Given the description of an element on the screen output the (x, y) to click on. 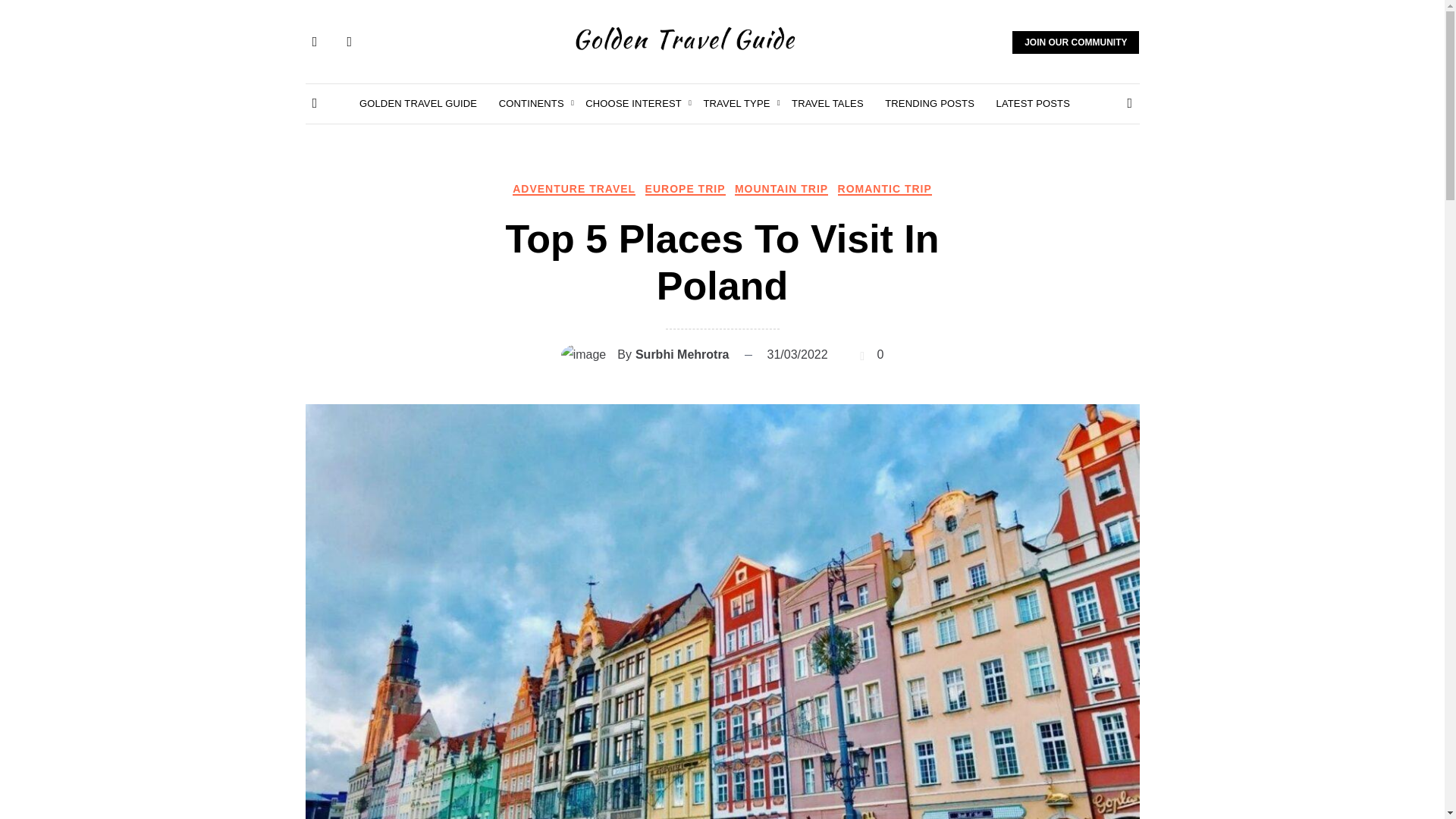
EUROPE TRIP (685, 188)
TRAVEL TYPE (736, 103)
TRAVEL TALES (827, 103)
MOUNTAIN TRIP (781, 188)
ADVENTURE TRAVEL (573, 188)
CHOOSE INTEREST (633, 103)
CONTINENTS (531, 103)
Logo (685, 38)
LATEST POSTS (1032, 103)
JOIN OUR COMMUNITY (1074, 42)
TRENDING POSTS (929, 103)
GOLDEN TRAVEL GUIDE (418, 103)
